Given the description of an element on the screen output the (x, y) to click on. 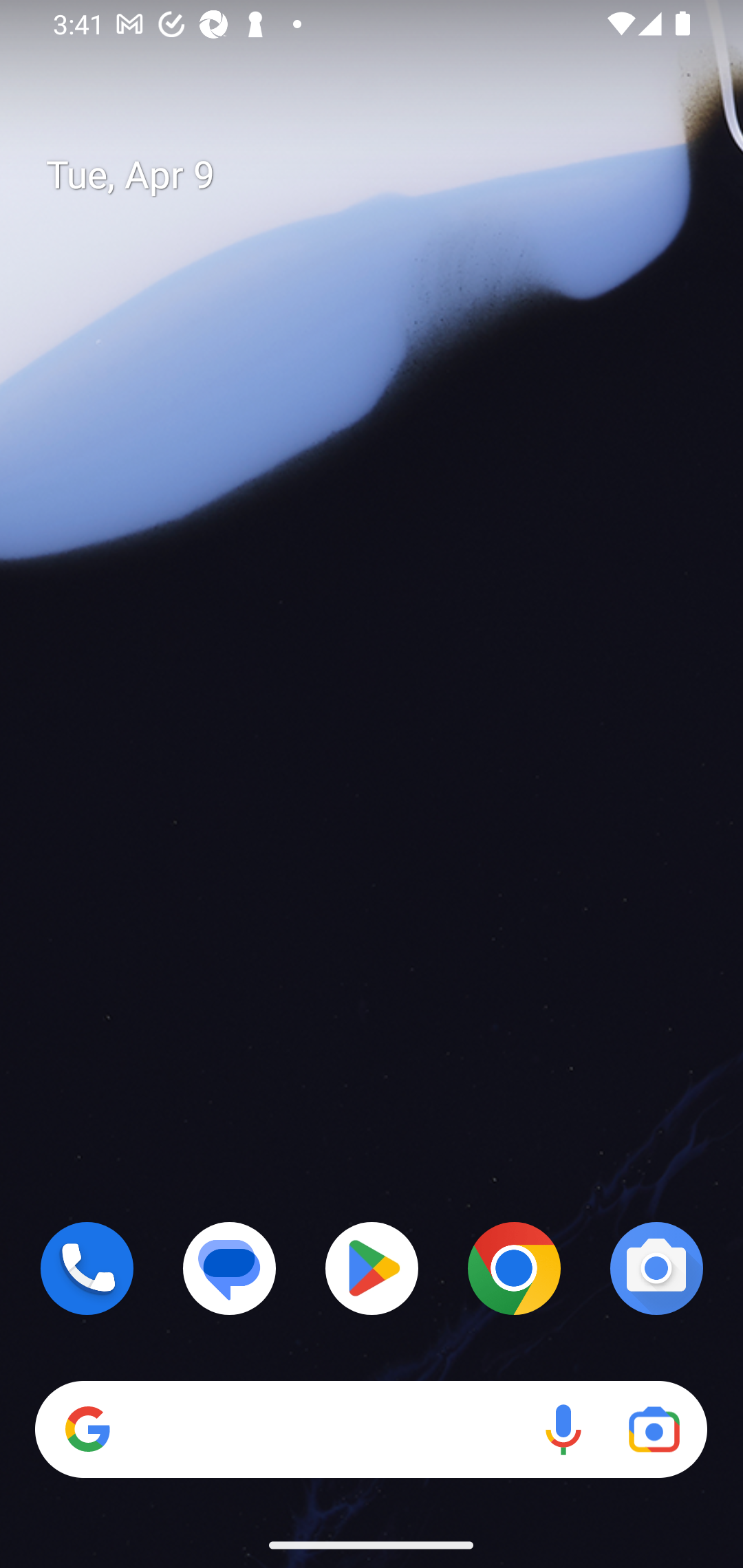
Tue, Apr 9 (386, 175)
Phone (86, 1268)
Messages (229, 1268)
Play Store (371, 1268)
Chrome (513, 1268)
Camera (656, 1268)
Search Voice search Google Lens (370, 1429)
Voice search (562, 1429)
Google Lens (653, 1429)
